Given the description of an element on the screen output the (x, y) to click on. 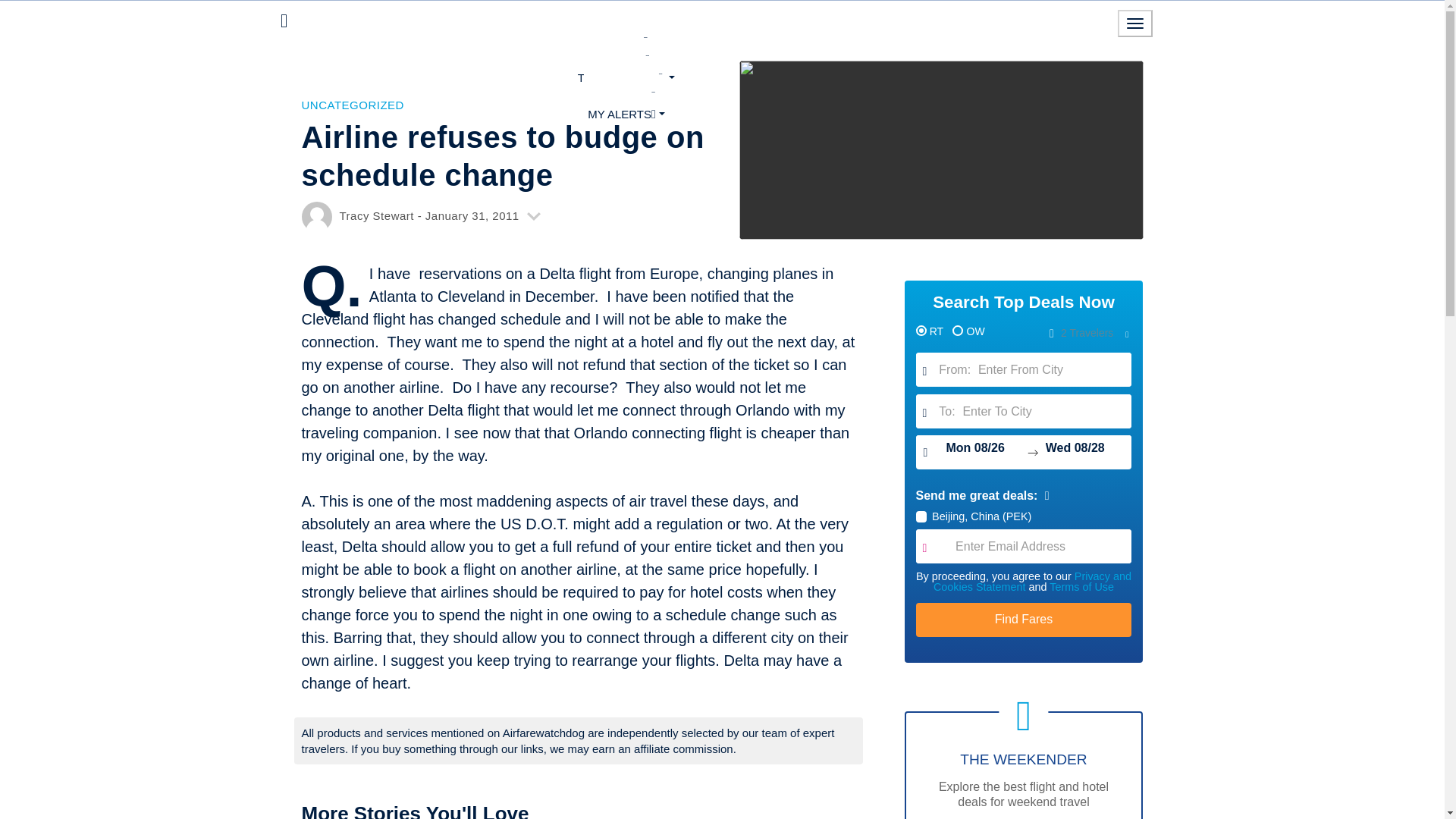
Toggle navigation (1135, 22)
TRAVEL BLOG (626, 77)
FLIGHTS (625, 40)
AIRLINES (625, 58)
